Given the description of an element on the screen output the (x, y) to click on. 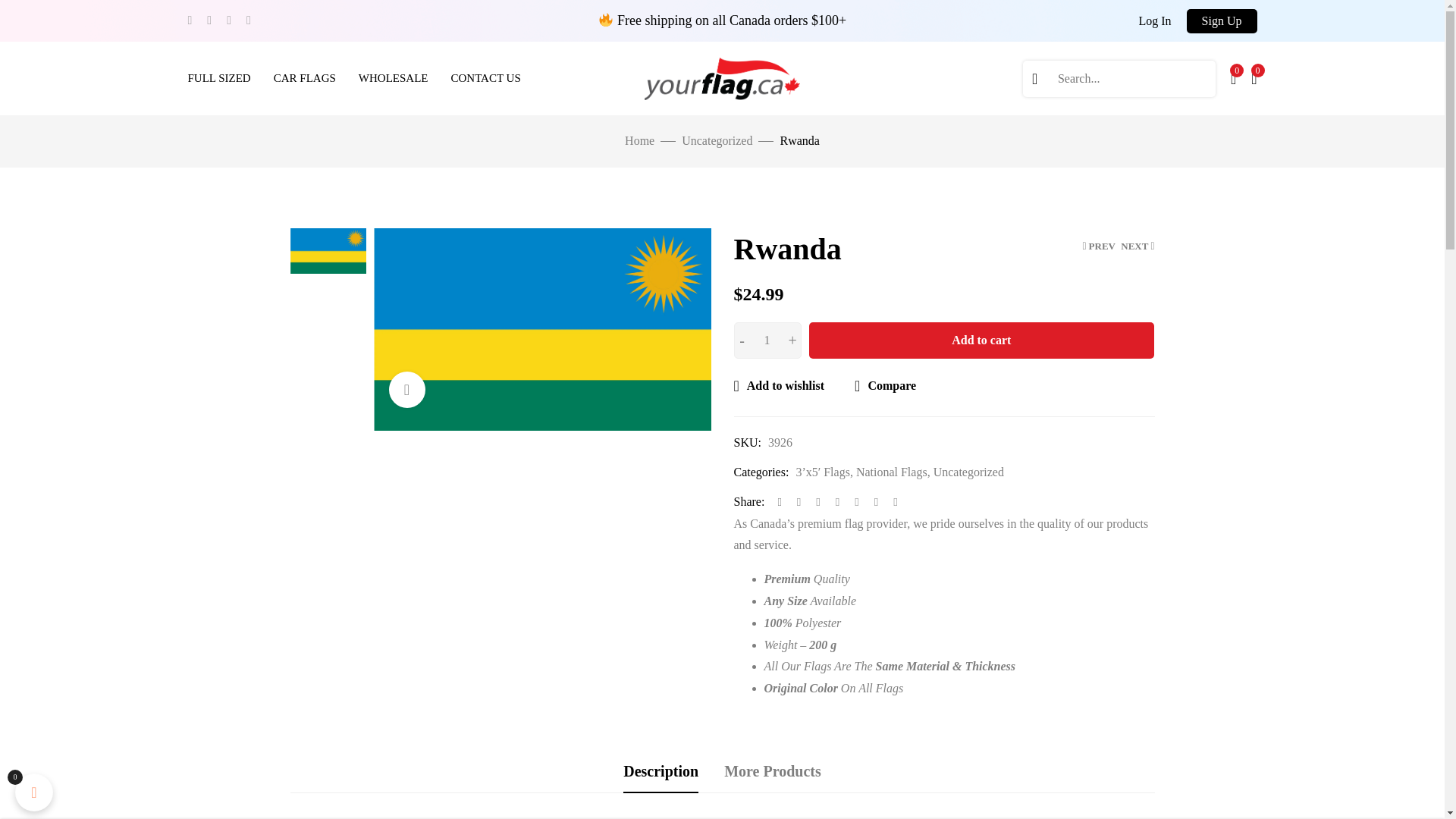
Wishlist (1233, 79)
PREV (1098, 245)
Search (1034, 78)
Sign Up (1221, 21)
Qty (766, 339)
- (741, 339)
National Flags (891, 472)
FULL SIZED (219, 78)
Uncategorized (716, 140)
Compare (884, 385)
Rwanda 2 RWANDA 1 1 scaled 1 (327, 250)
Add to cart (981, 340)
WHOLESALE (393, 78)
1 (766, 339)
CONTACT US (485, 78)
